Given the description of an element on the screen output the (x, y) to click on. 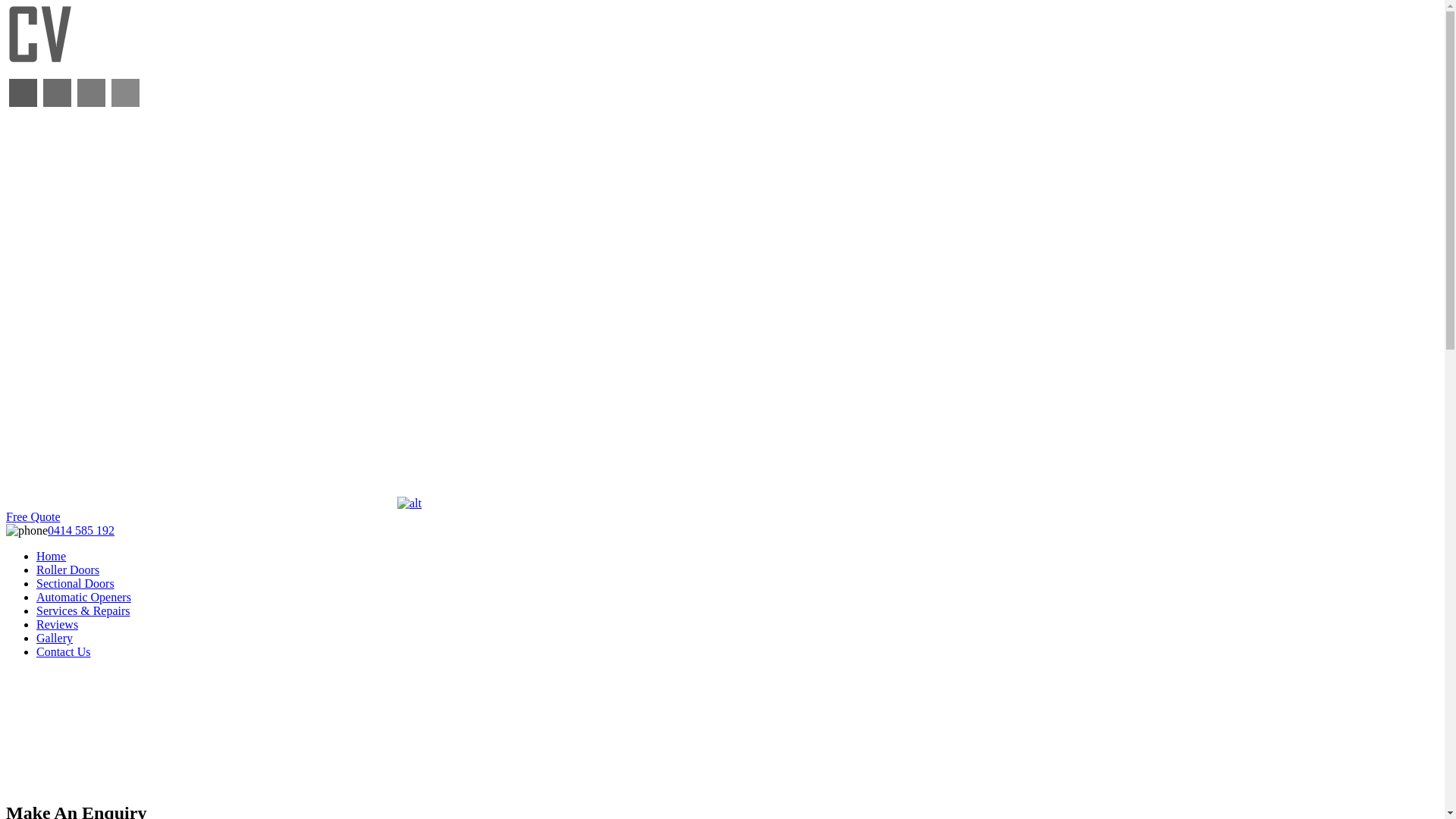
Roller Doors Element type: text (67, 569)
Automatic Openers Element type: text (83, 596)
Contact Us Element type: text (63, 651)
Gallery Element type: text (54, 637)
Services & Repairs Element type: text (83, 610)
Home Element type: text (50, 555)
Sectional Doors Element type: text (75, 583)
Reviews Element type: text (57, 624)
Free Quote Element type: text (33, 516)
0414 585 192 Element type: text (80, 530)
